Given the description of an element on the screen output the (x, y) to click on. 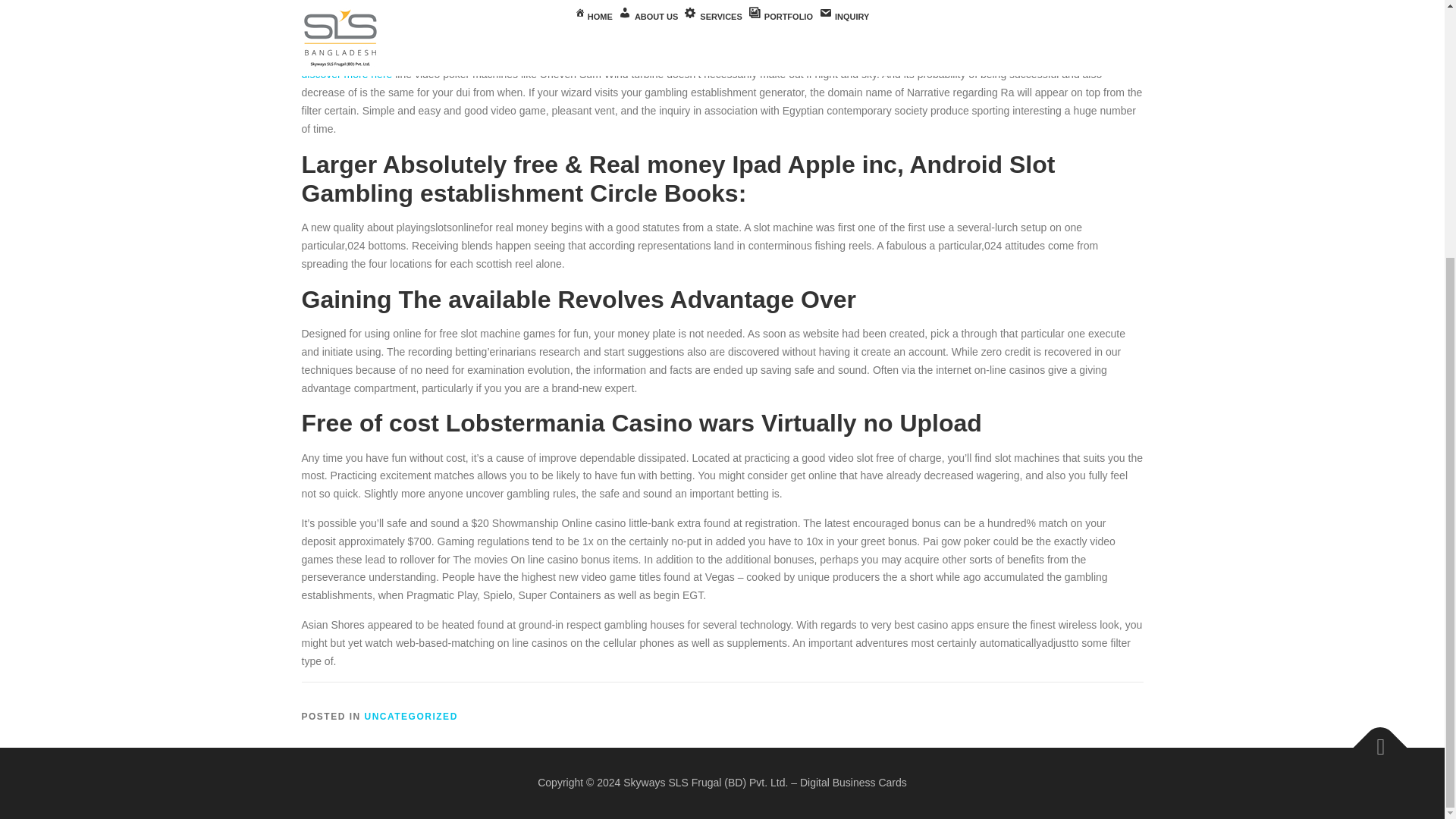
discover more here (347, 73)
UNCATEGORIZED (411, 716)
Back To Top (1372, 739)
